Given the description of an element on the screen output the (x, y) to click on. 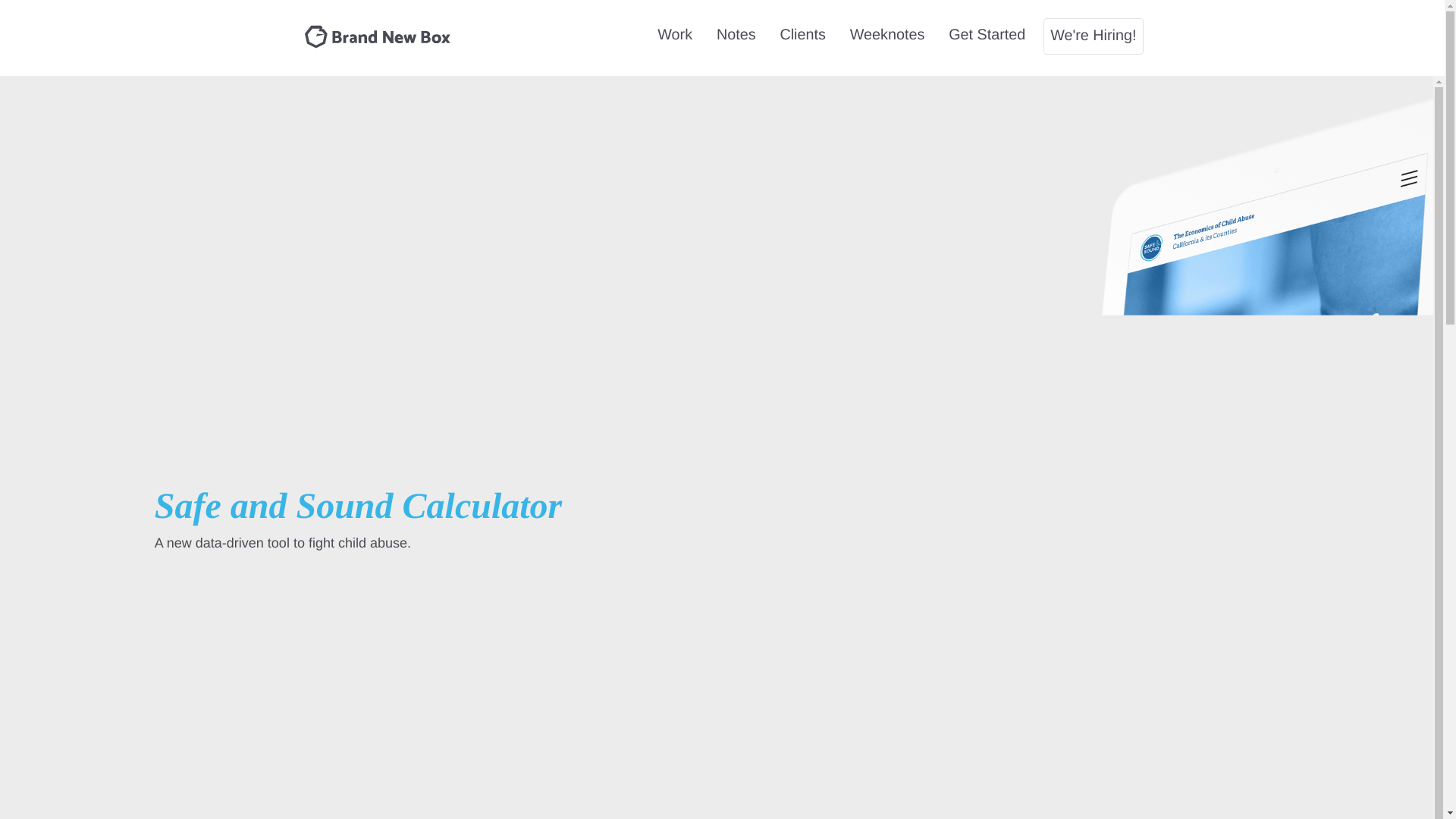
Clients (802, 35)
We're Hiring! (1092, 36)
Notes (735, 35)
Get Started (986, 35)
Weeknotes (887, 35)
Work (674, 35)
